Given the description of an element on the screen output the (x, y) to click on. 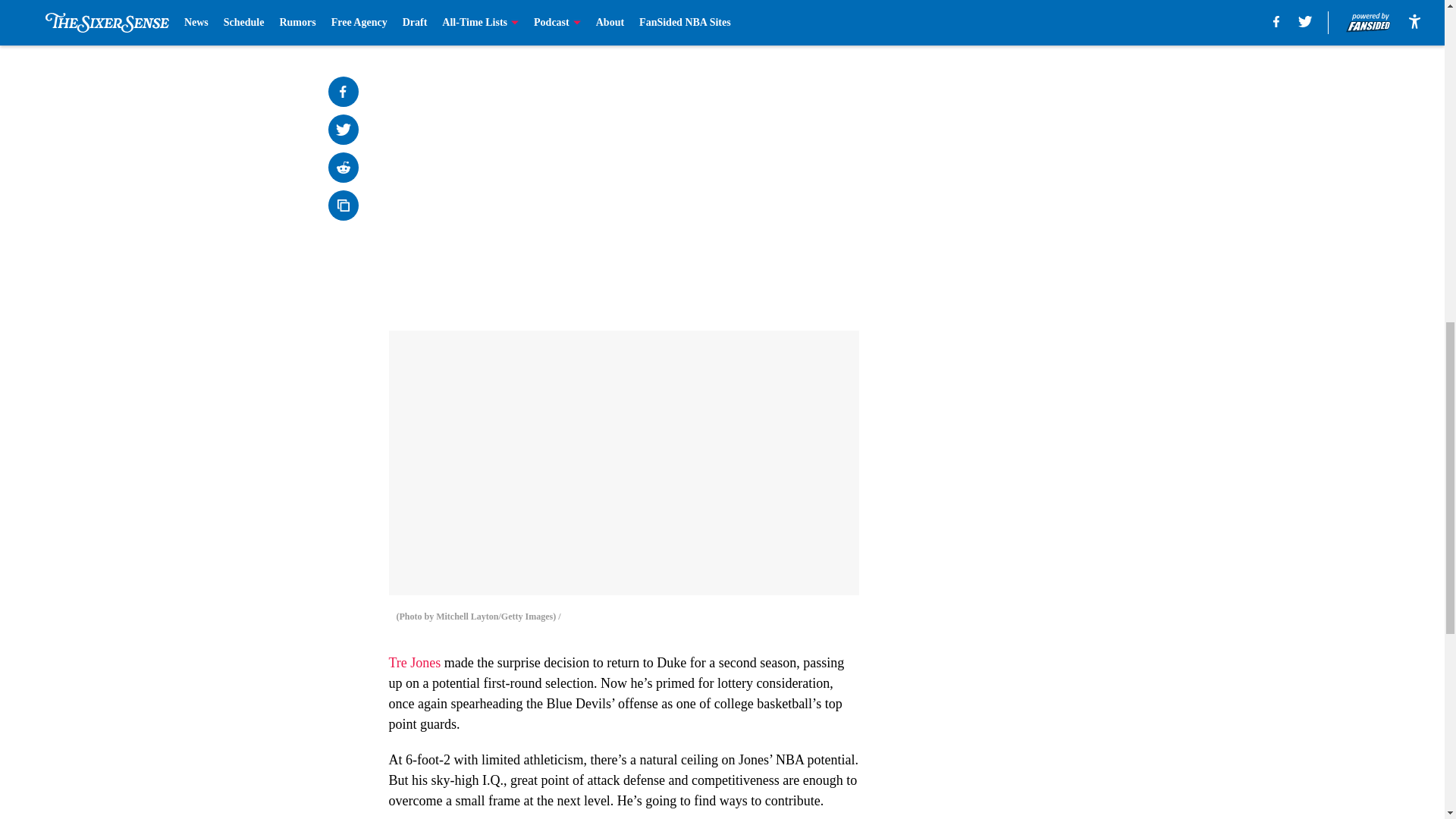
Prev (433, 20)
Next (813, 20)
Tre Jones (414, 662)
